Given the description of an element on the screen output the (x, y) to click on. 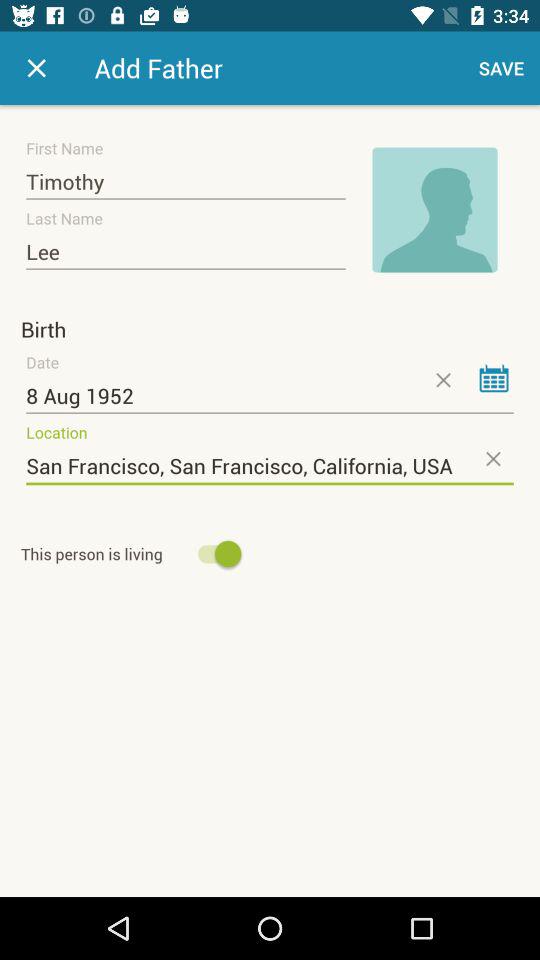
press icon to the right of the timothy item (434, 210)
